Given the description of an element on the screen output the (x, y) to click on. 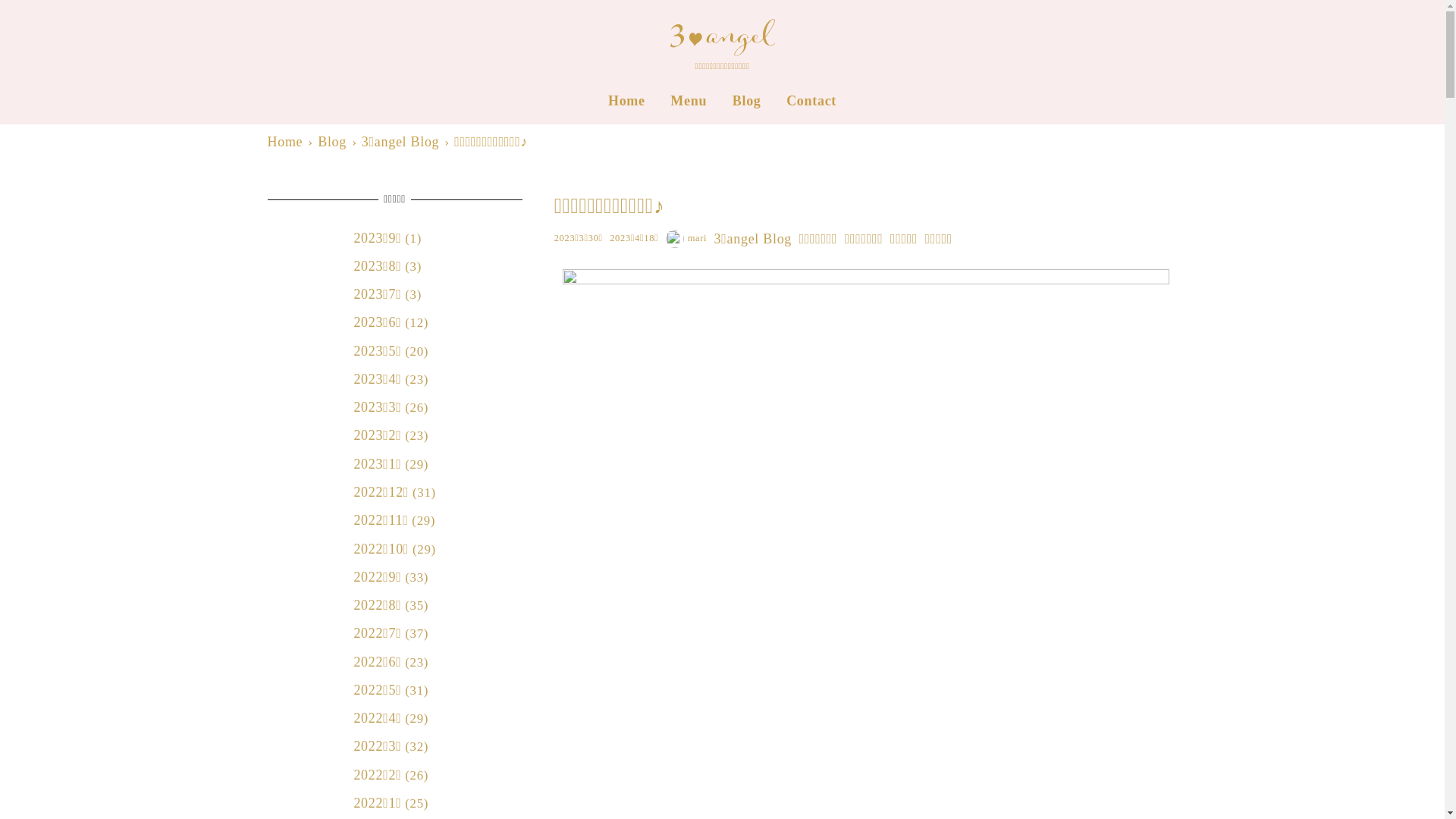
Blog Element type: text (746, 100)
Blog Element type: text (333, 141)
Home Element type: text (286, 141)
Home Element type: text (626, 100)
Menu Element type: text (688, 100)
Contact Element type: text (810, 100)
